Given the description of an element on the screen output the (x, y) to click on. 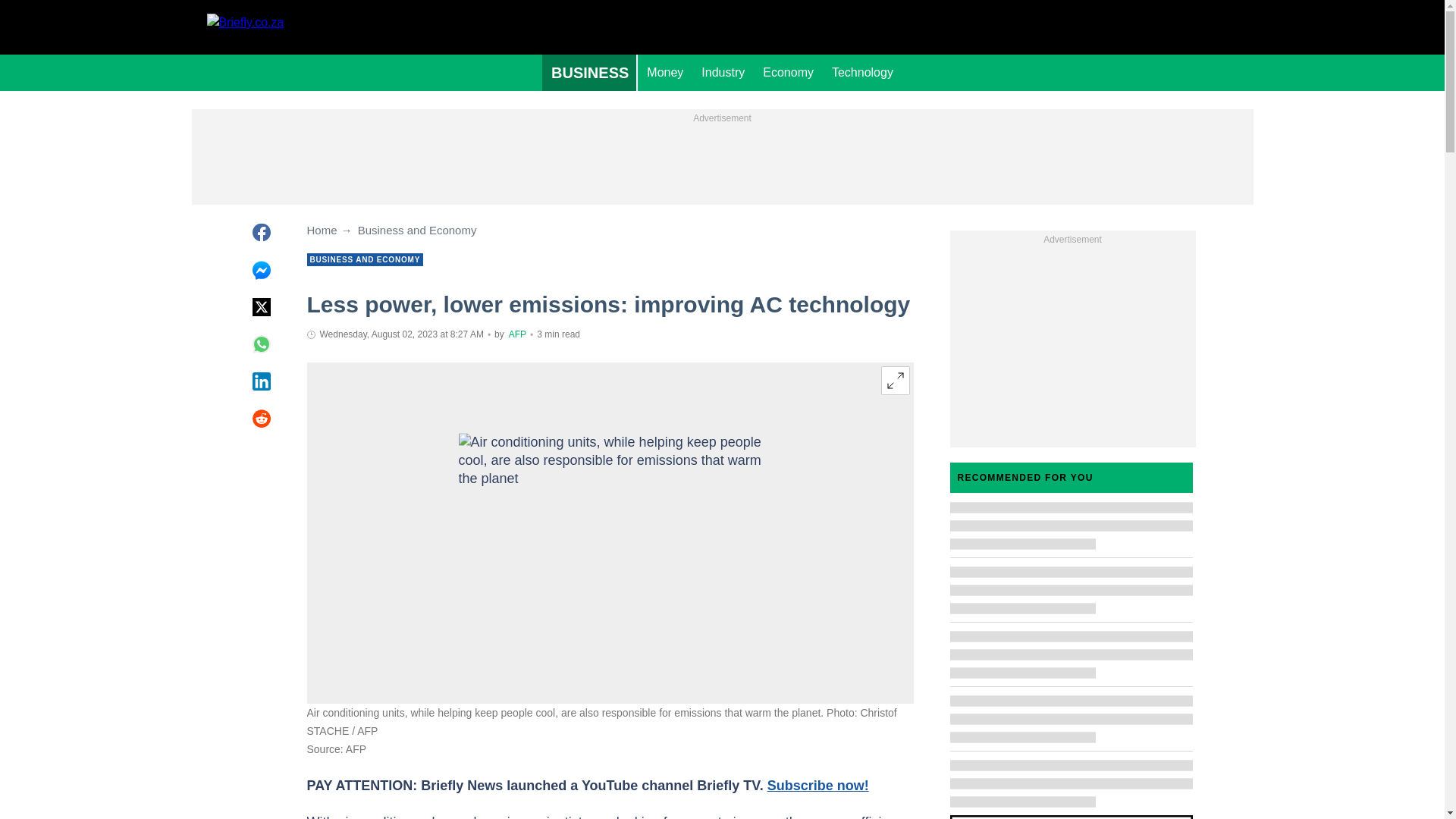
BUSINESS (589, 72)
Economy (788, 72)
Expand image (895, 380)
Industry (723, 72)
Author page (516, 334)
Money (665, 72)
Technology (862, 72)
